Given the description of an element on the screen output the (x, y) to click on. 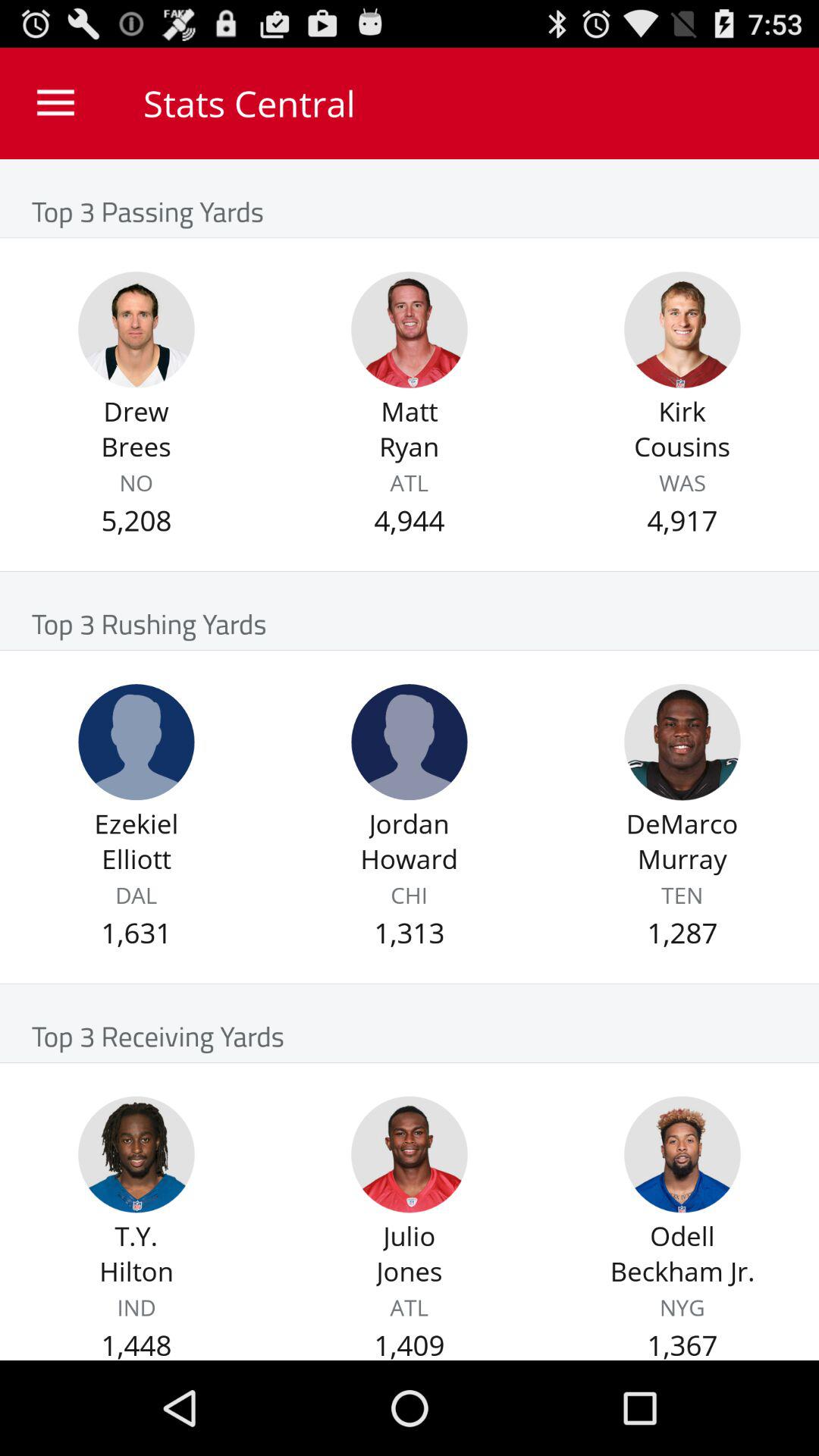
open t.y hilton information page (136, 1154)
